Given the description of an element on the screen output the (x, y) to click on. 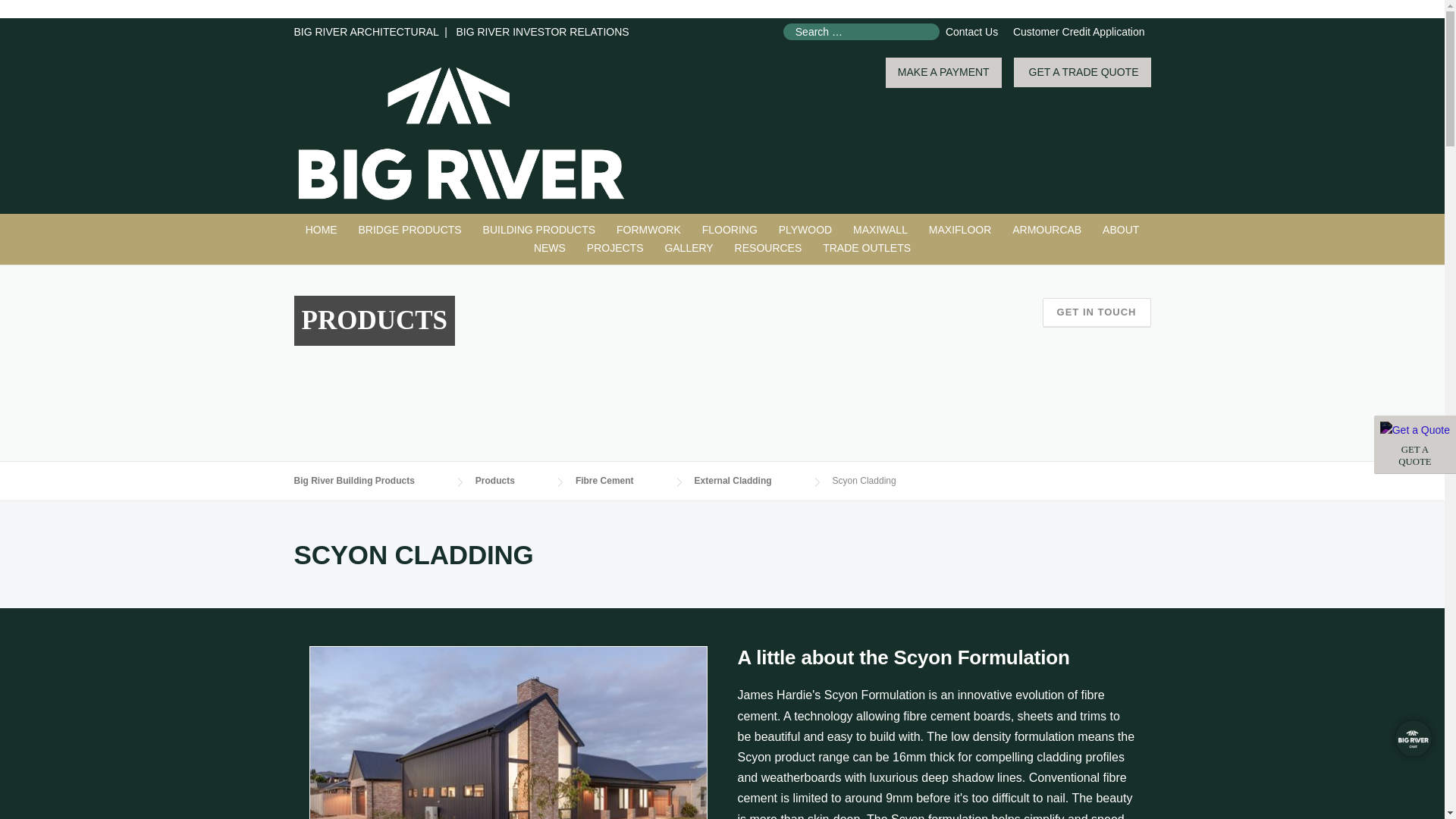
Go to Products. (510, 480)
Get a Trade Quote (1415, 444)
Products (539, 230)
Skip to content (34, 27)
Get a Quote (1415, 430)
Projects (615, 248)
Customer Credit Application (1078, 31)
BIG RIVER INVESTOR RELATIONS (541, 31)
BIG RIVER ARCHITECTURAL (366, 31)
BRIDGE PRODUCTS (409, 230)
MAKE A PAYMENT (943, 72)
Go to the Fibre Cement Category archives. (619, 480)
HOME (1415, 444)
Big River Building Products (321, 230)
